Given the description of an element on the screen output the (x, y) to click on. 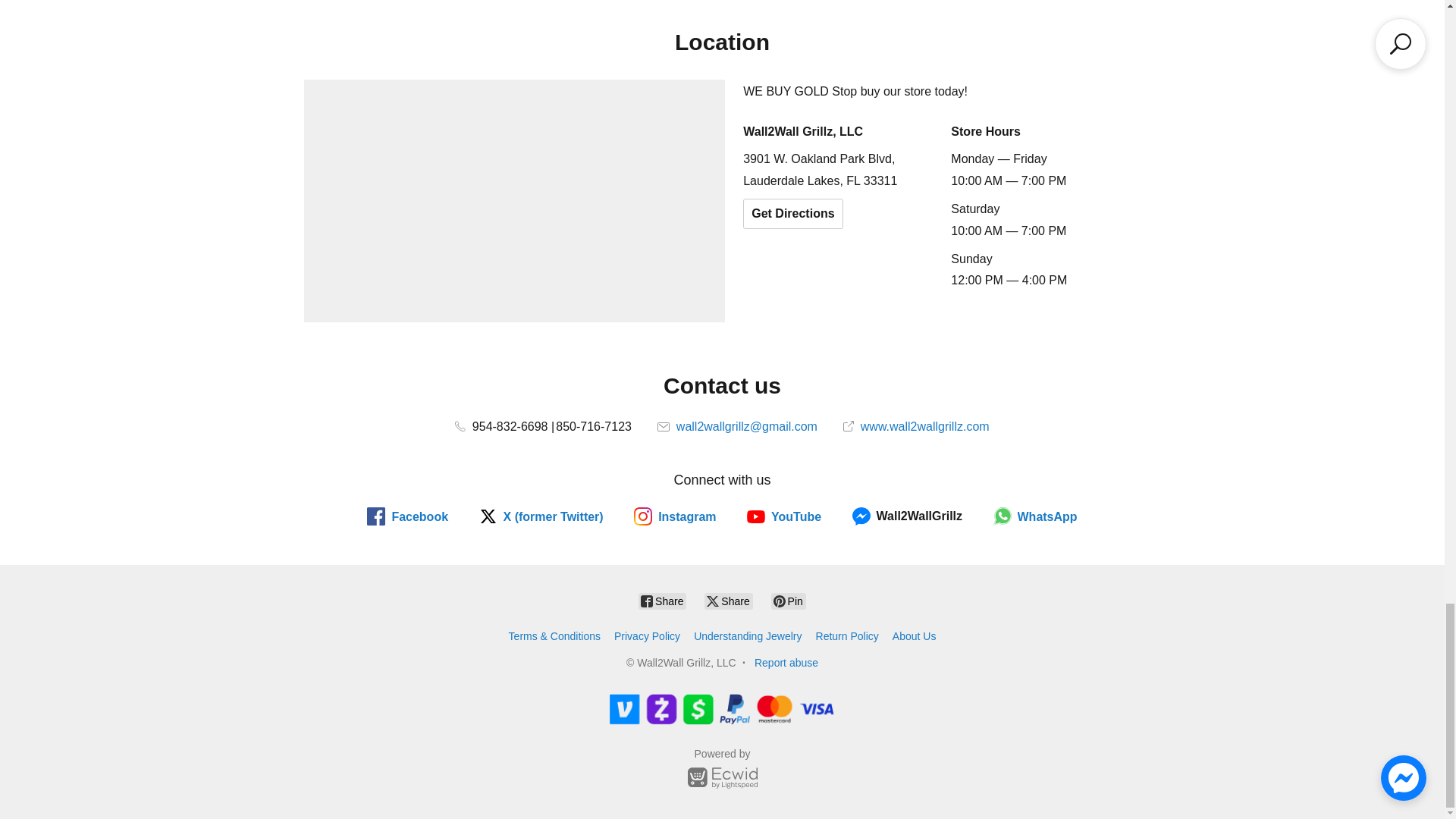
Location on map (513, 200)
